Given the description of an element on the screen output the (x, y) to click on. 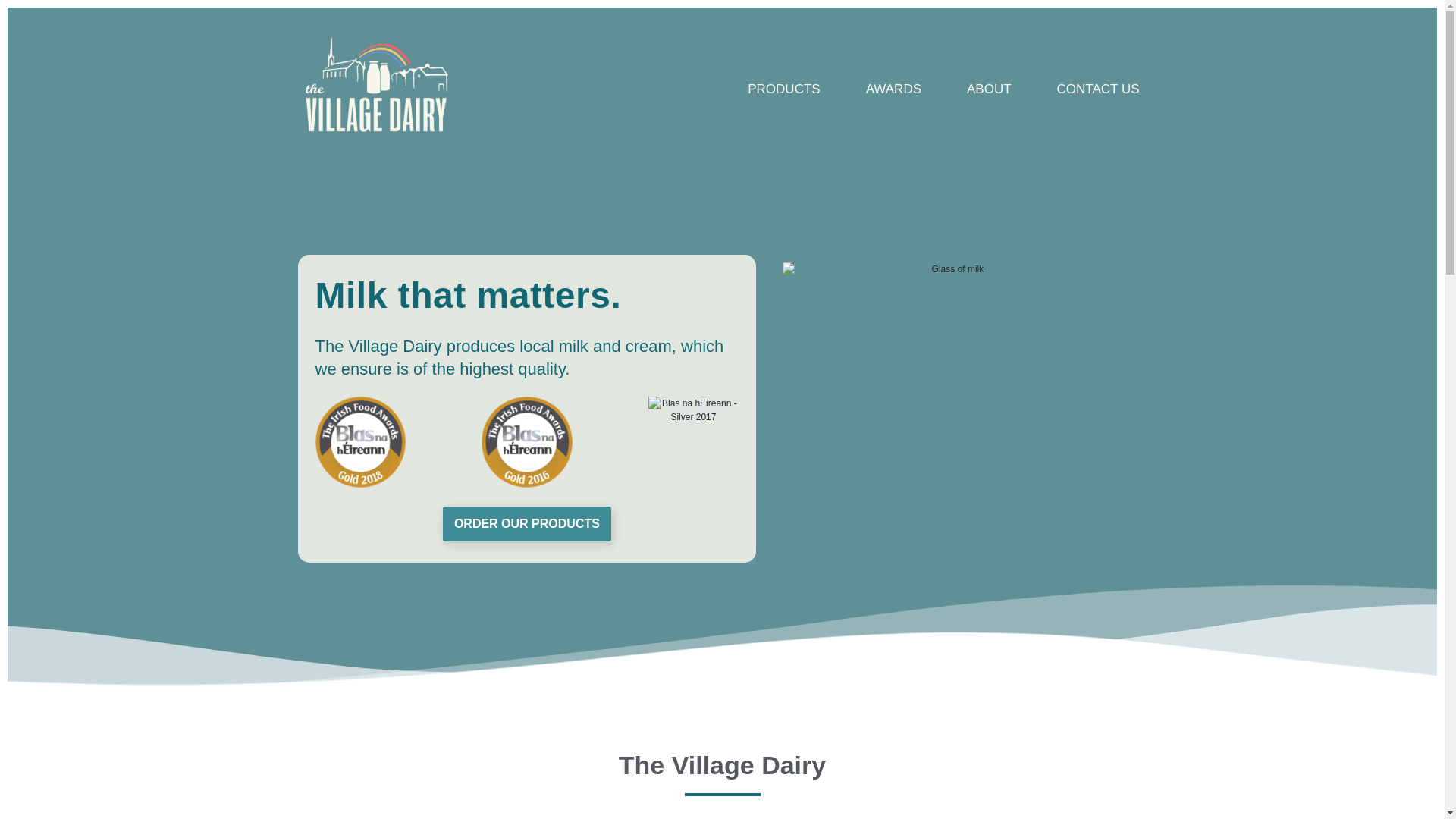
CONTACT US (1098, 89)
PRODUCTS (783, 89)
ABOUT (988, 89)
ORDER OUR PRODUCTS (526, 523)
AWARDS (893, 89)
